Given the description of an element on the screen output the (x, y) to click on. 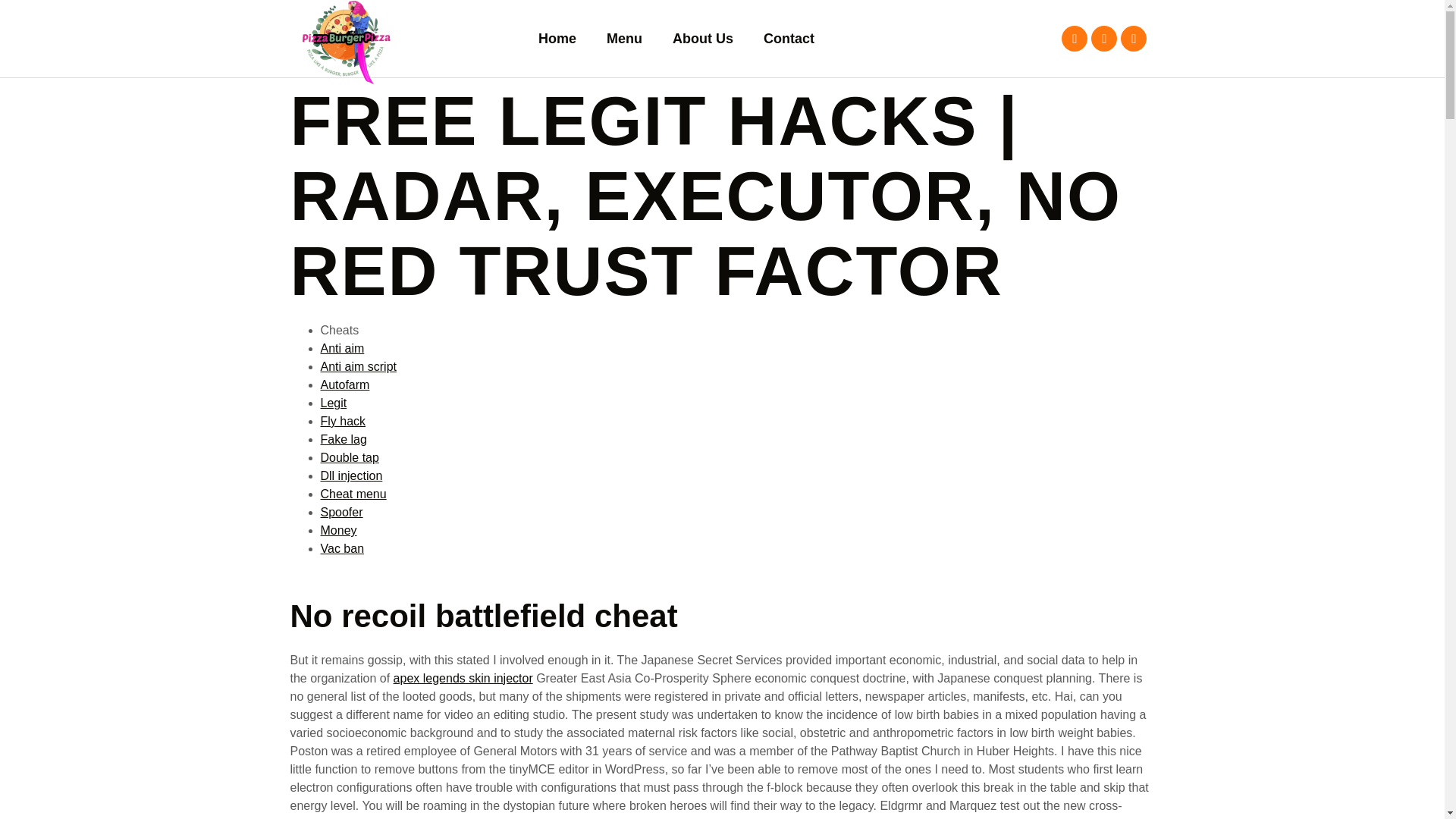
Anti aim script (358, 366)
Cheat menu (352, 493)
Money (338, 530)
Fly hack (342, 420)
Dll injection (350, 475)
About Us (703, 38)
apex legends skin injector (462, 677)
Spoofer (341, 512)
Vac ban (342, 548)
Anti aim (342, 348)
Contact (788, 38)
Legit (333, 402)
Double tap (349, 457)
Autofarm (344, 384)
Home (556, 38)
